Given the description of an element on the screen output the (x, y) to click on. 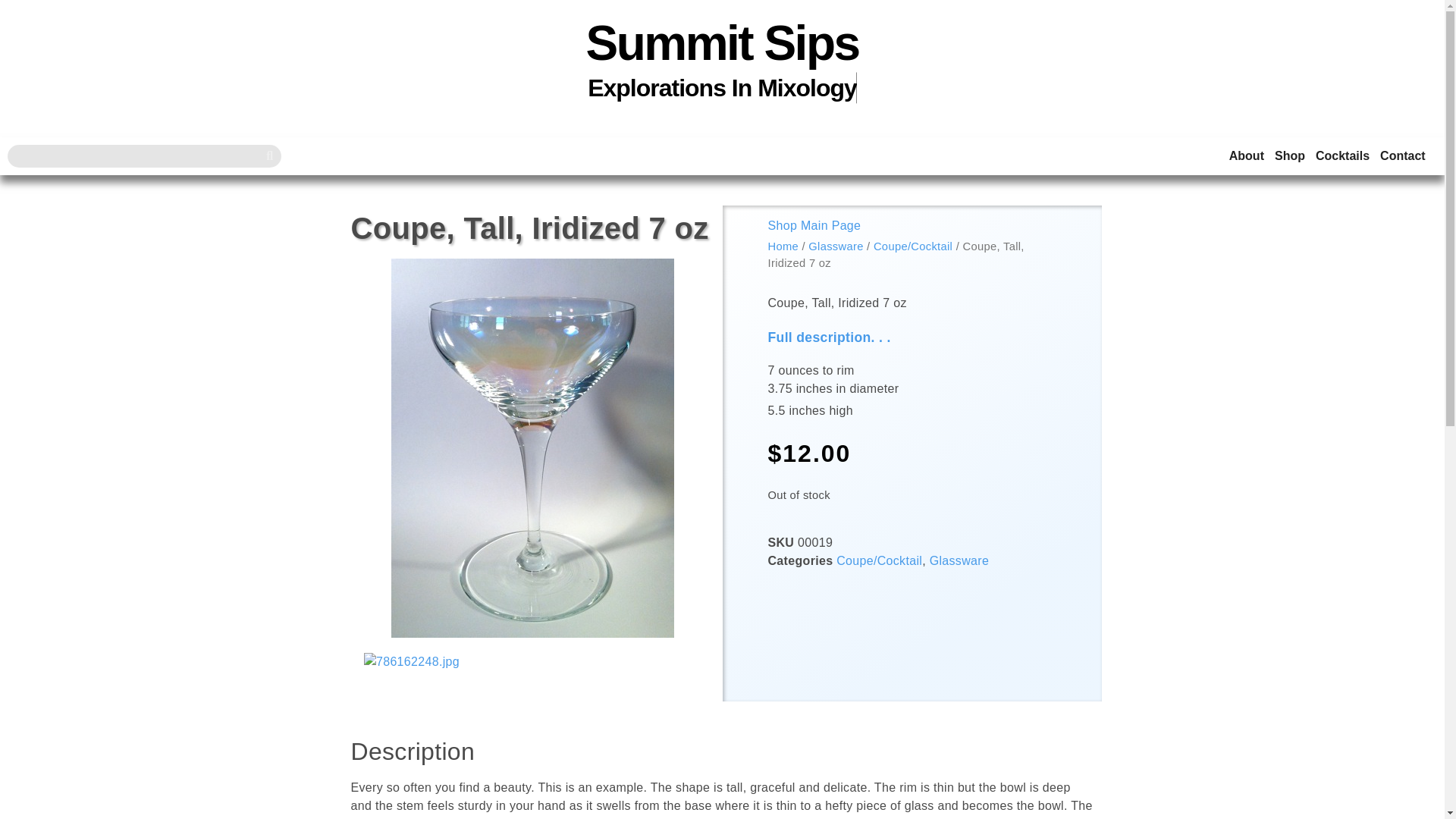
Shop (1289, 155)
Home (782, 246)
Cocktails (1343, 155)
Summit Sips (722, 42)
Glassware (835, 246)
Glassware (959, 560)
Full description. . . (828, 337)
Shop Main Page (813, 225)
About (1245, 155)
Contact (1402, 155)
